Given the description of an element on the screen output the (x, y) to click on. 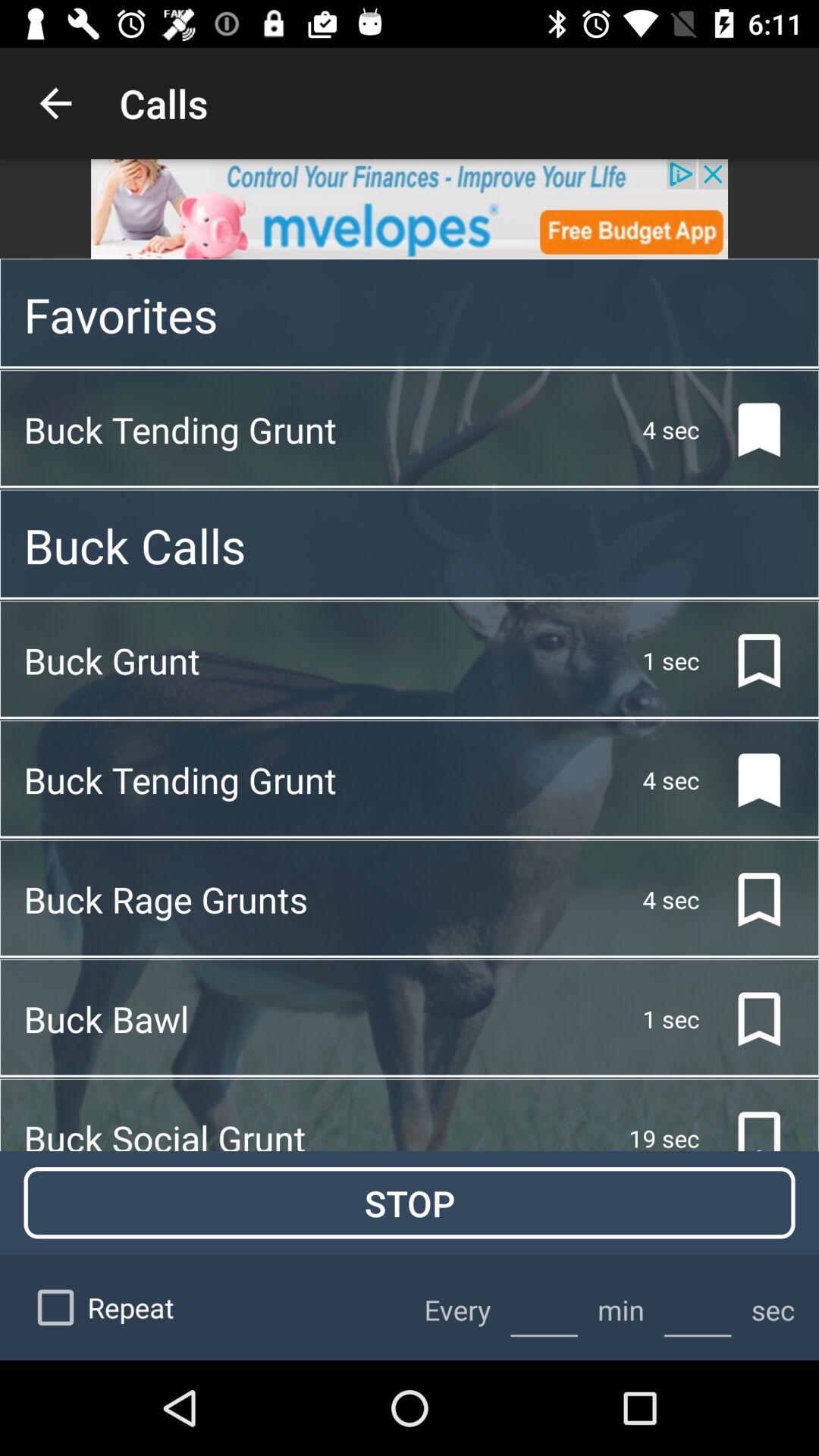
goes to advertiser 's website (409, 208)
